Given the description of an element on the screen output the (x, y) to click on. 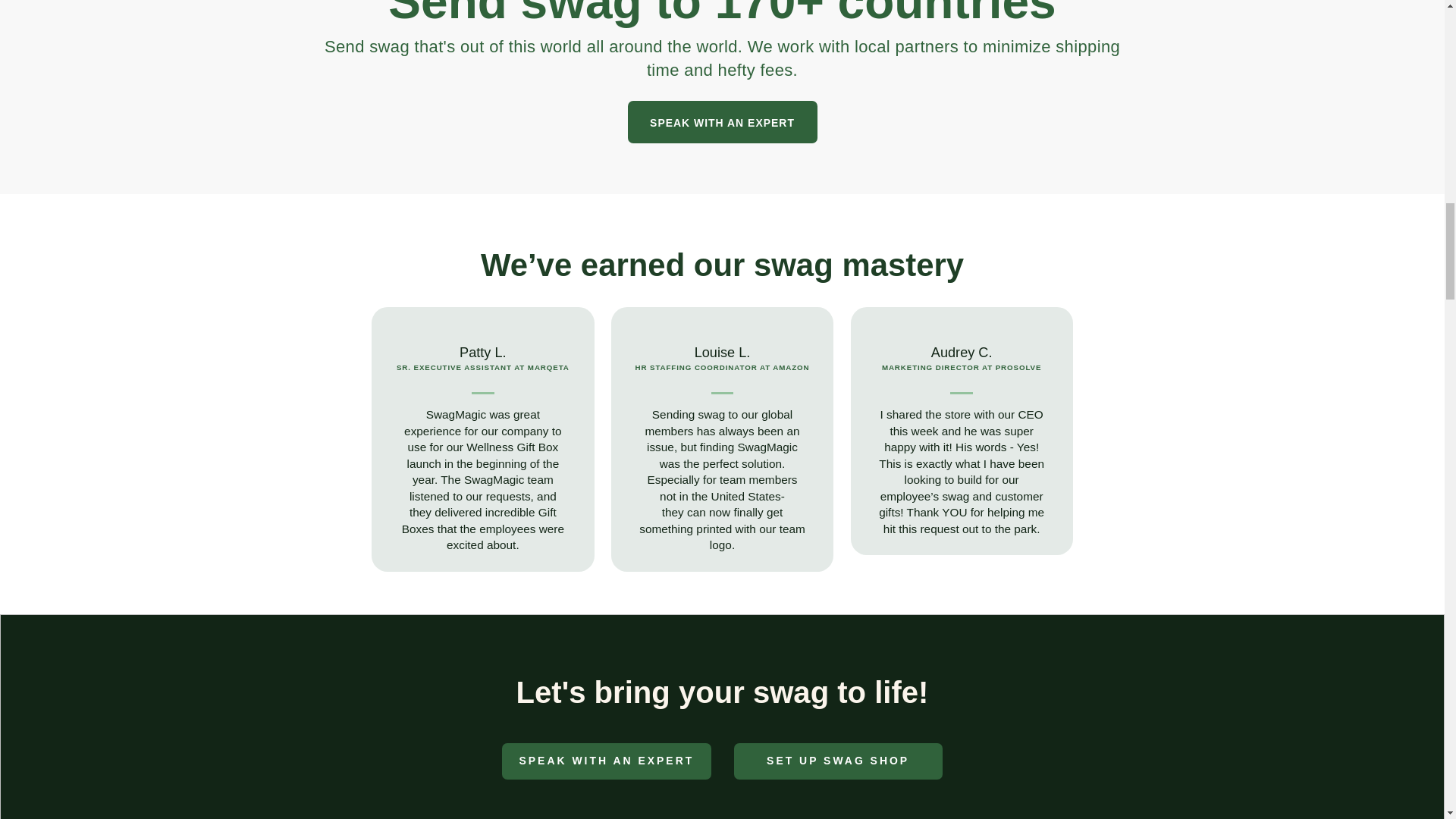
SPEAK WITH AN EXPERT (606, 760)
SET UP SWAG SHOP (837, 760)
SPEAK WITH AN EXPERT (721, 121)
